Given the description of an element on the screen output the (x, y) to click on. 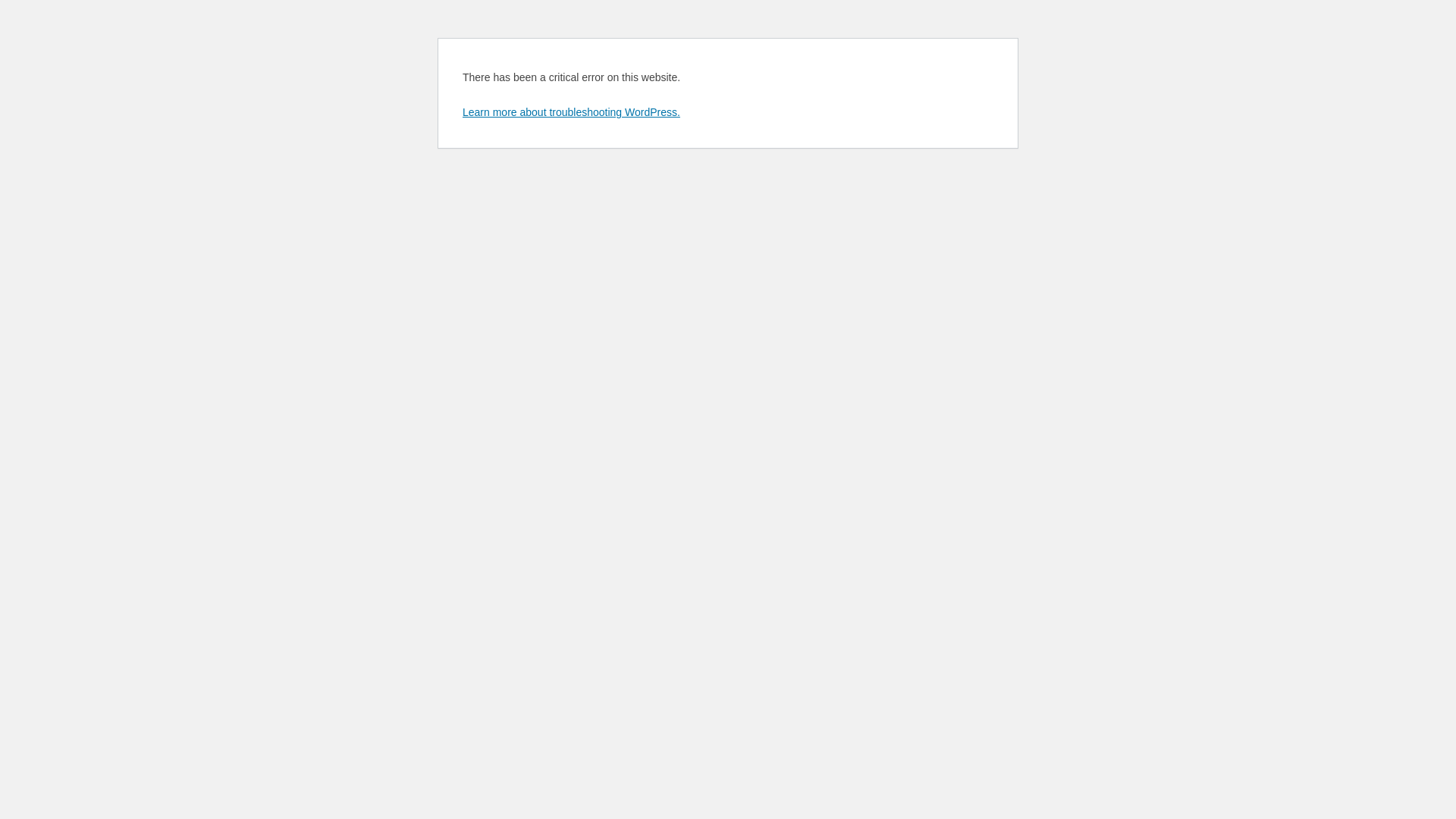
Learn more about troubleshooting WordPress. Element type: text (571, 112)
